Given the description of an element on the screen output the (x, y) to click on. 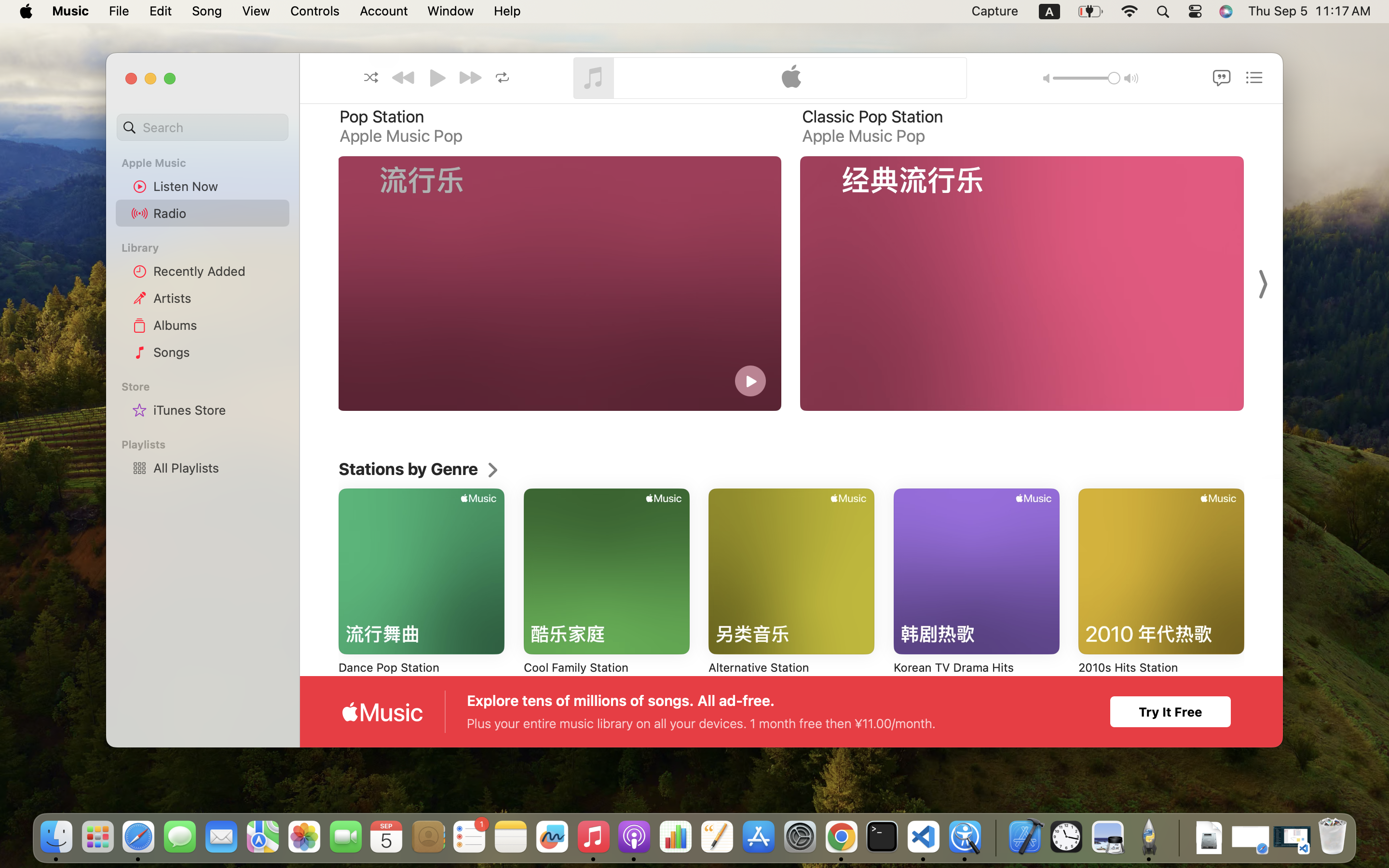
All Playlists Element type: AXStaticText (217, 467)
Radio Element type: AXStaticText (217, 212)
Recently Added Element type: AXStaticText (217, 270)
Artists Element type: AXStaticText (217, 297)
